Given the description of an element on the screen output the (x, y) to click on. 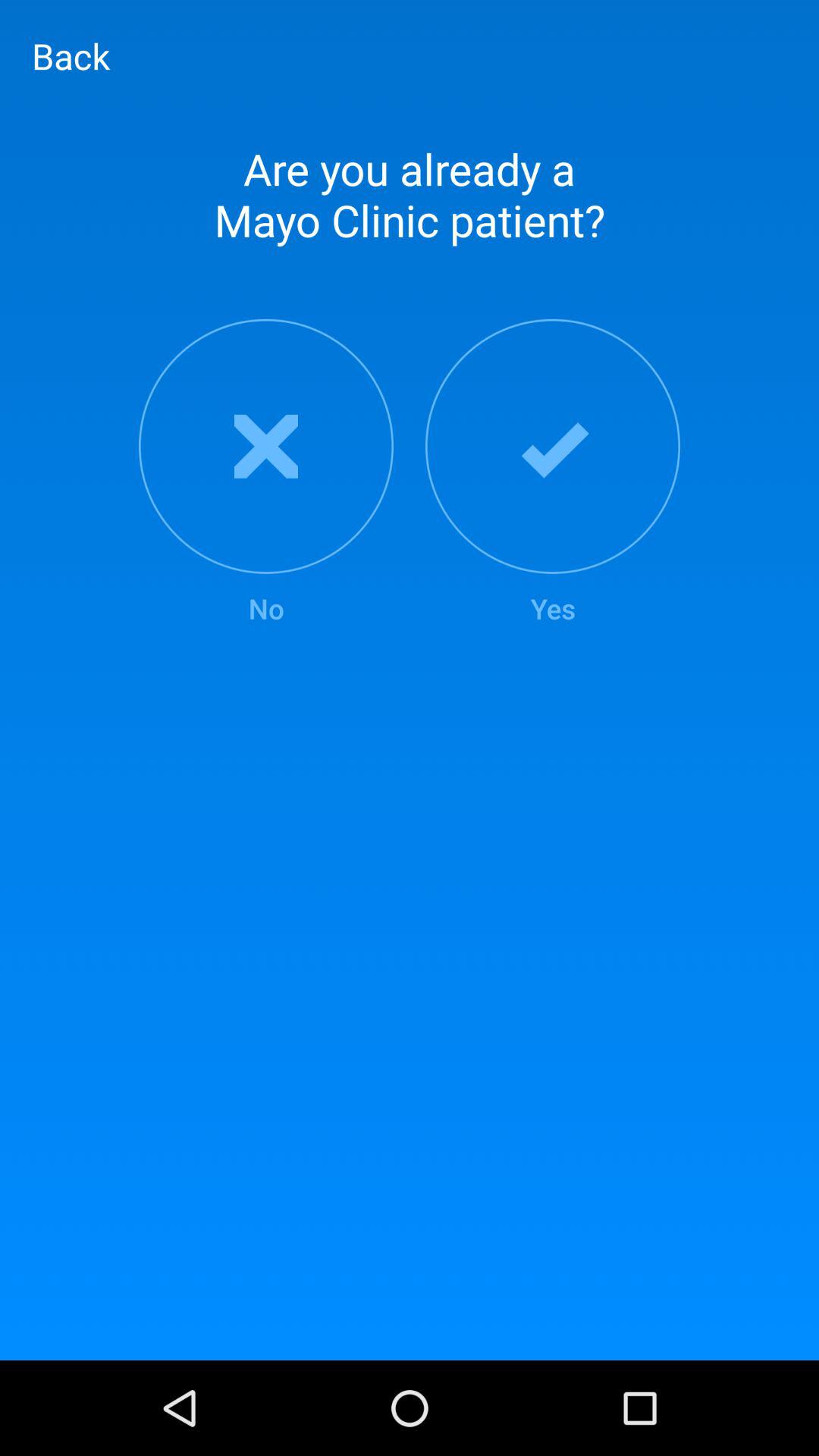
jump to back icon (70, 55)
